Given the description of an element on the screen output the (x, y) to click on. 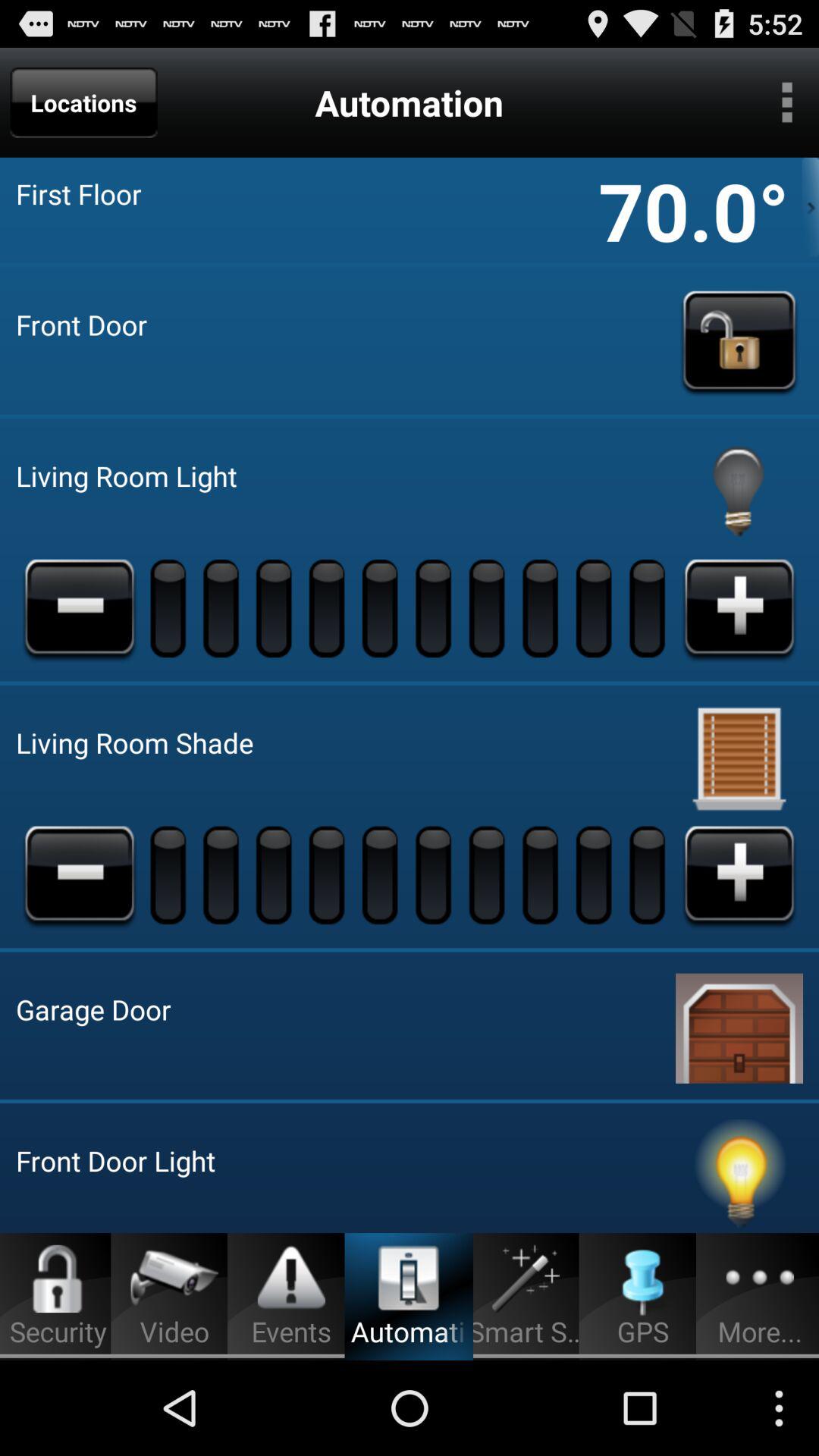
hamburger menu (787, 102)
